Given the description of an element on the screen output the (x, y) to click on. 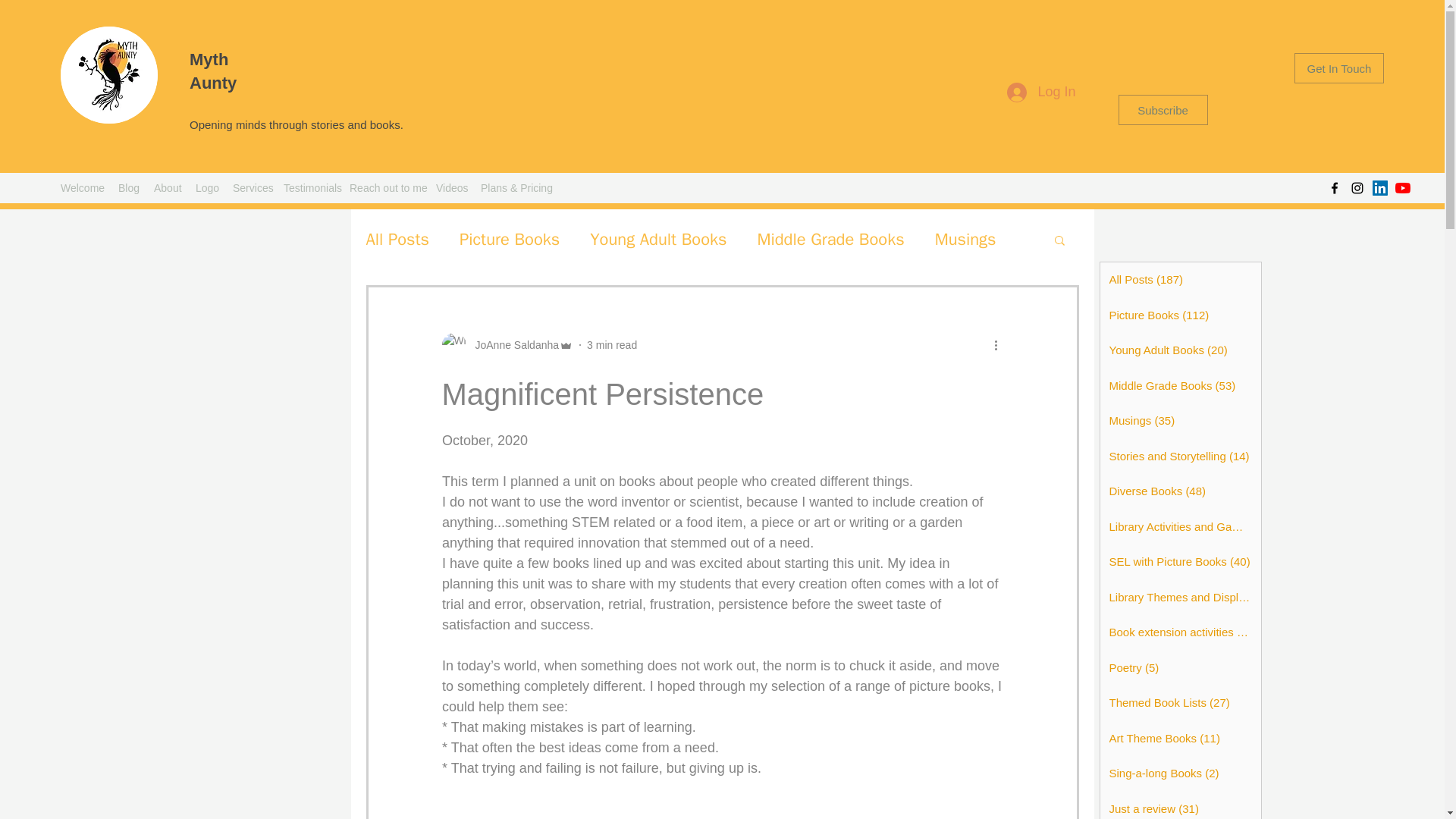
About (167, 187)
Testimonials (309, 187)
Videos (450, 187)
Welcome (81, 187)
Log In (1040, 92)
All Posts (397, 239)
3 min read (611, 345)
Services (250, 187)
Reach out to me (385, 187)
Subscribe (1162, 110)
